Given the description of an element on the screen output the (x, y) to click on. 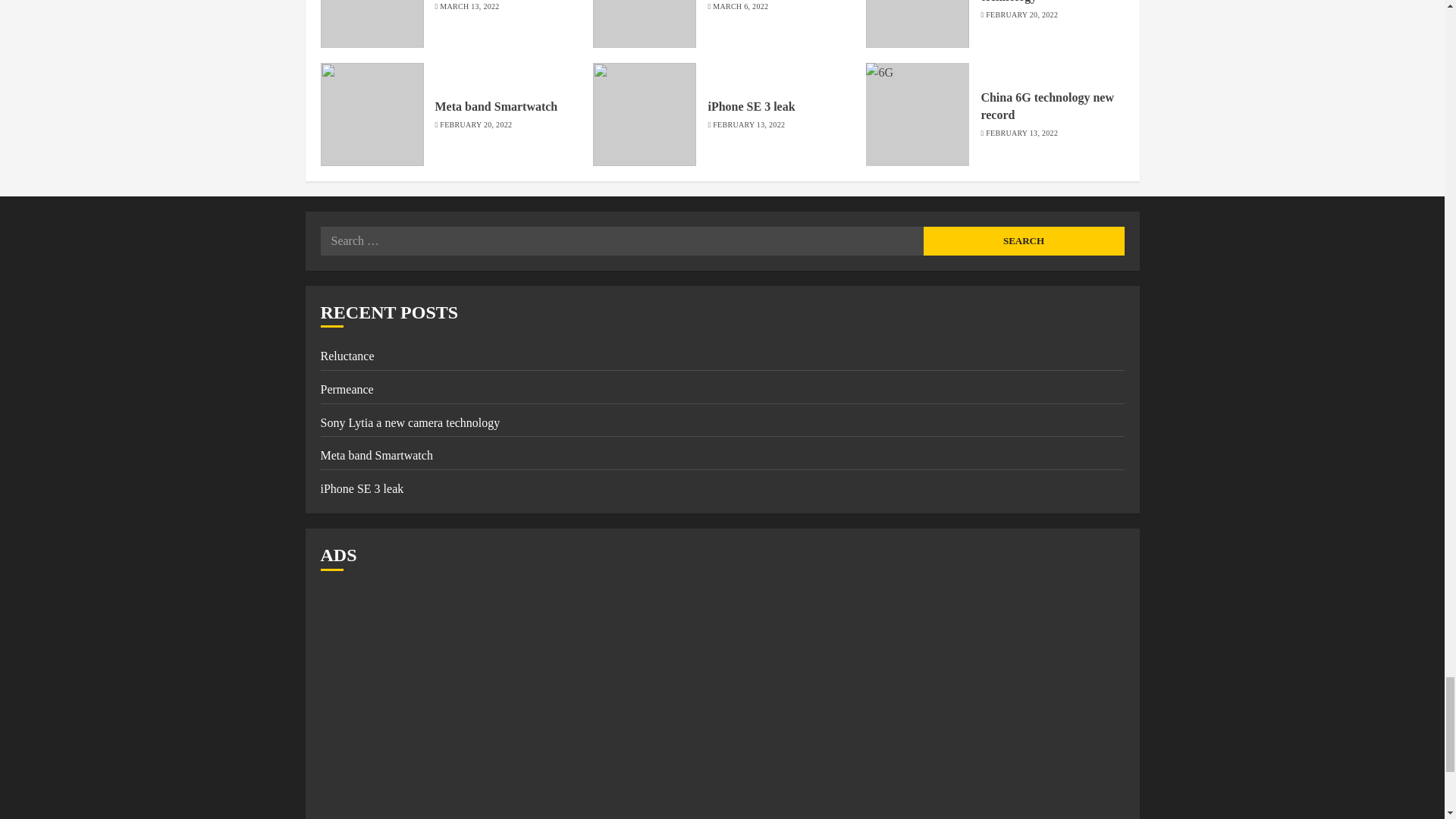
Search (1023, 240)
Search (1023, 240)
